Given the description of an element on the screen output the (x, y) to click on. 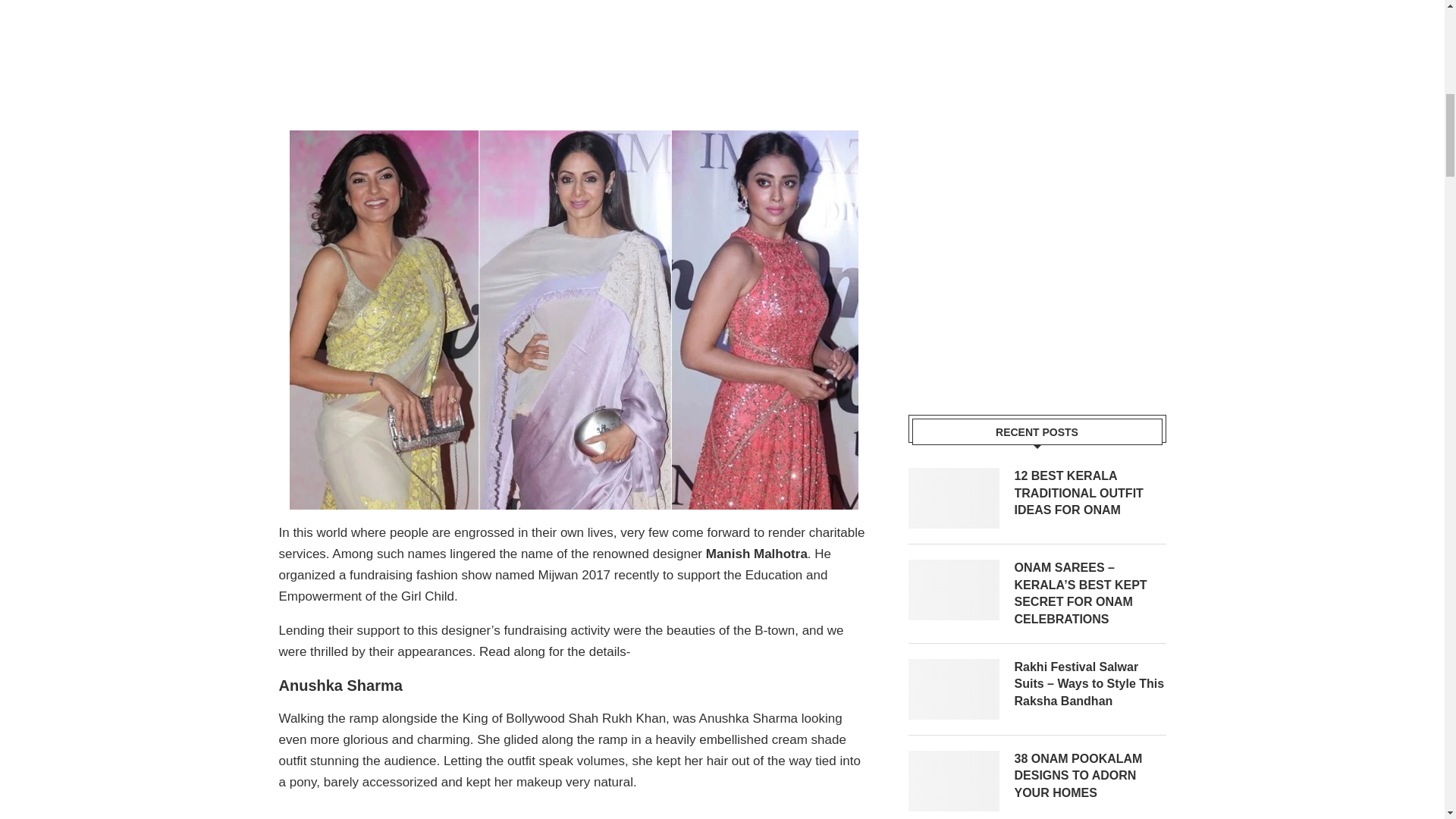
Advertisement (555, 58)
